Given the description of an element on the screen output the (x, y) to click on. 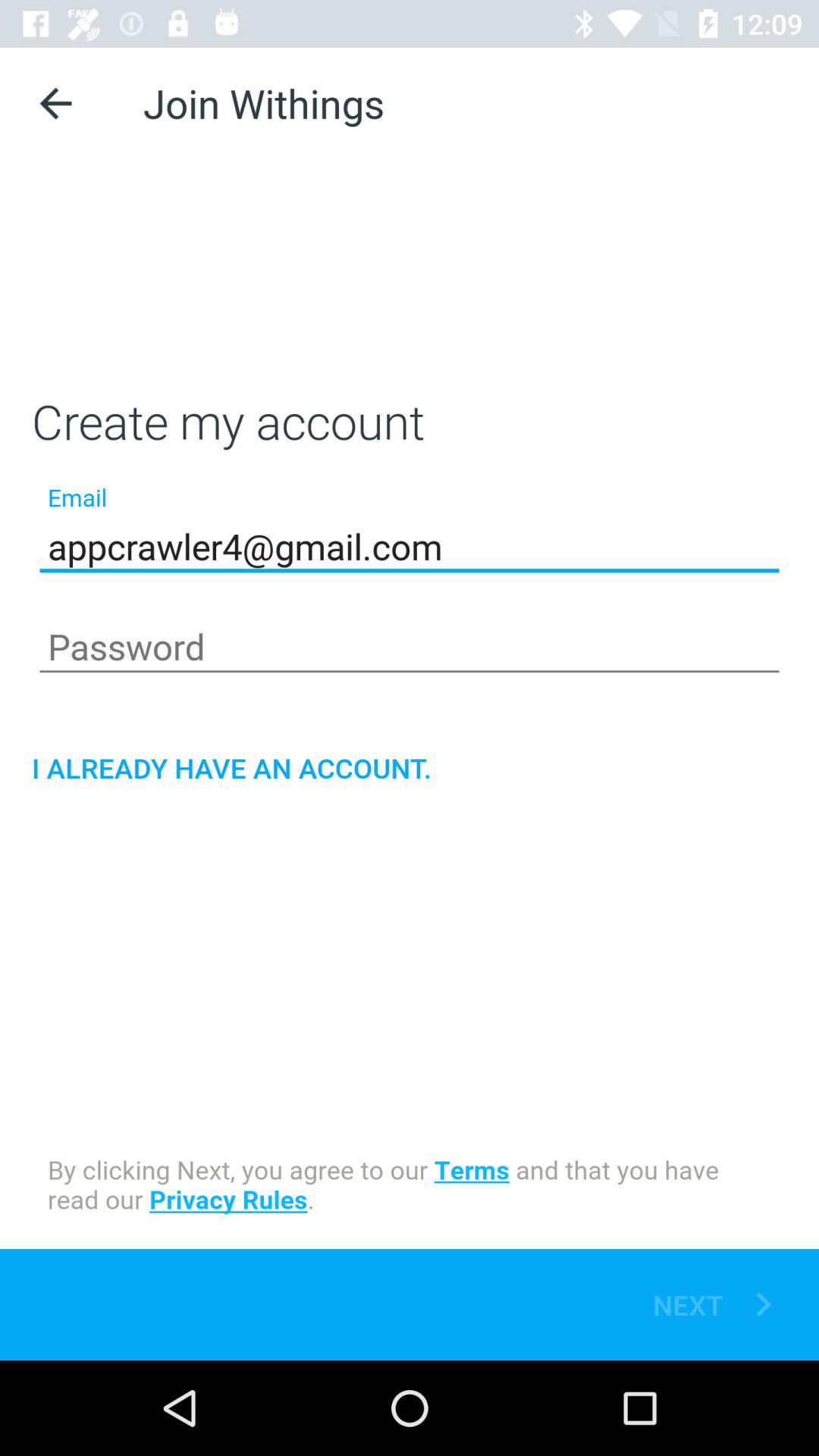
terms and privacy rules (409, 1187)
